Given the description of an element on the screen output the (x, y) to click on. 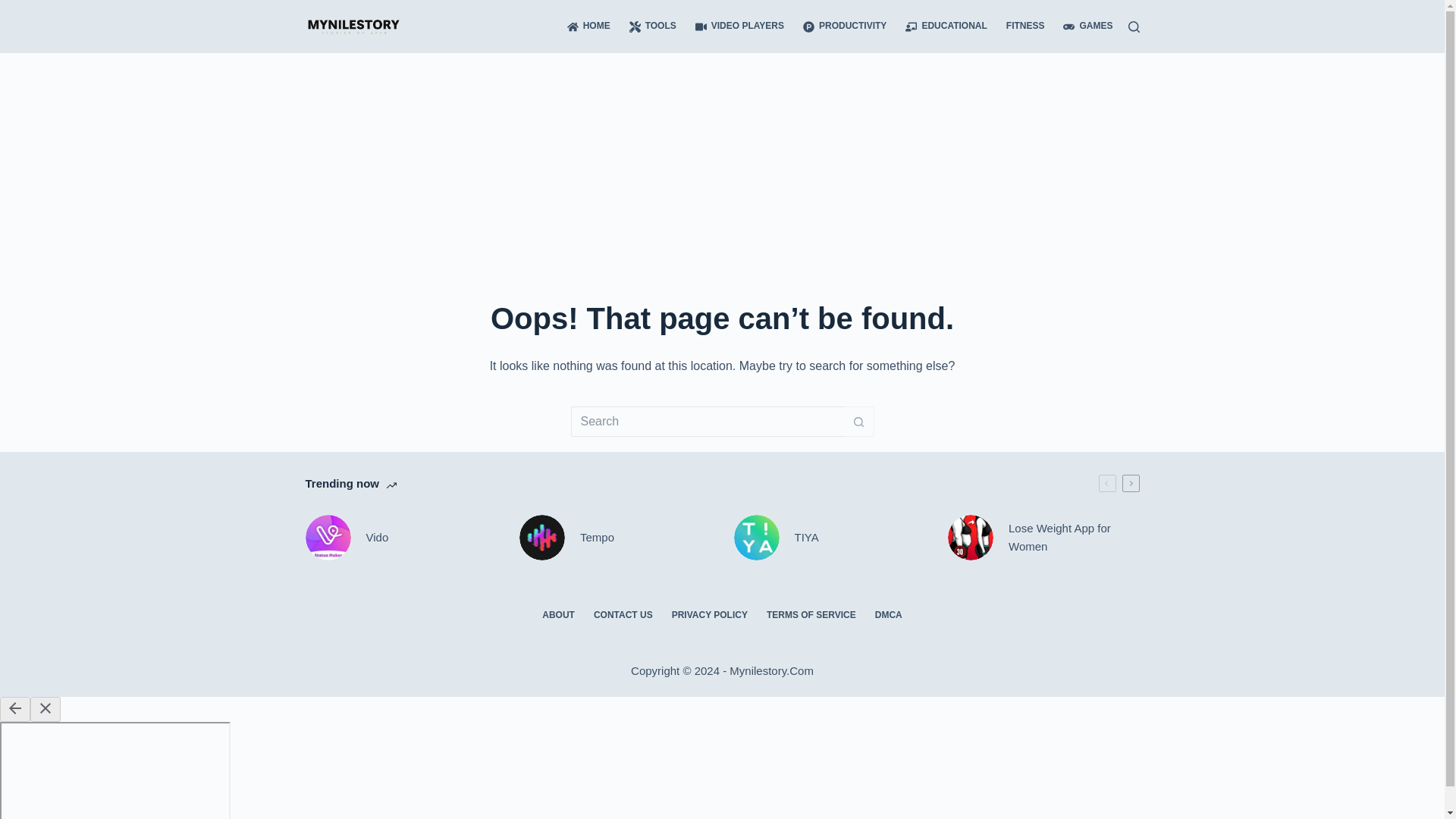
ABOUT (558, 615)
VIDEO PLAYERS (739, 26)
EDUCATIONAL (945, 26)
Search for... (706, 421)
DMCA (887, 615)
GAMES (1083, 26)
Lose Weight App for Women (1043, 537)
Skip to content (15, 7)
FITNESS (1024, 26)
PRIVACY POLICY (709, 615)
